Given the description of an element on the screen output the (x, y) to click on. 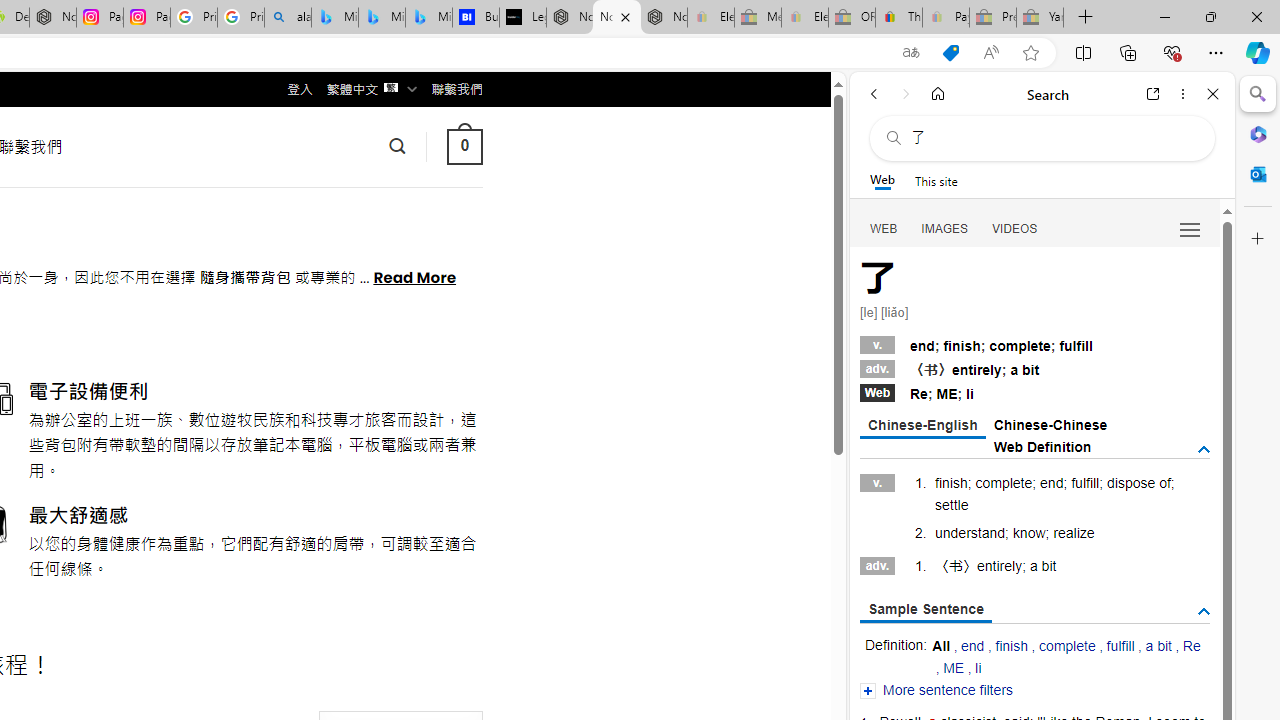
  0   (464, 146)
Read More (414, 276)
Chinese-English (922, 426)
Threats and offensive language policy | eBay (898, 17)
Press Room - eBay Inc. - Sleeping (993, 17)
Show translate options (910, 53)
WEB (884, 228)
